Given the description of an element on the screen output the (x, y) to click on. 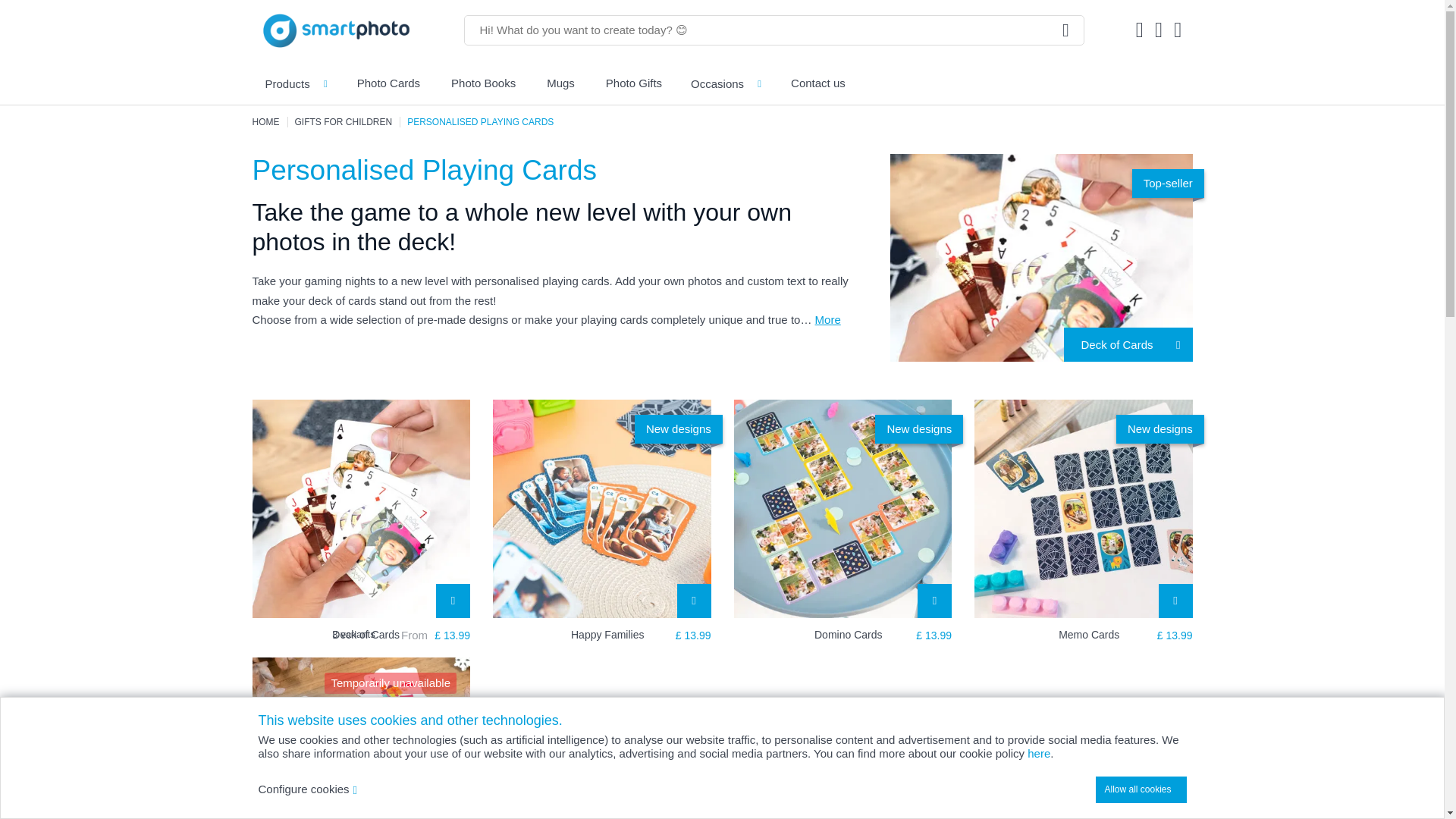
Photo Gifts (633, 83)
New designs (1083, 508)
Deck of Cards (360, 508)
Home (265, 122)
Personalised Christmas playing cards (360, 738)
New designs (842, 508)
Contact us (817, 83)
Happy Families (640, 634)
More (837, 318)
Configure cookies (306, 789)
